Given the description of an element on the screen output the (x, y) to click on. 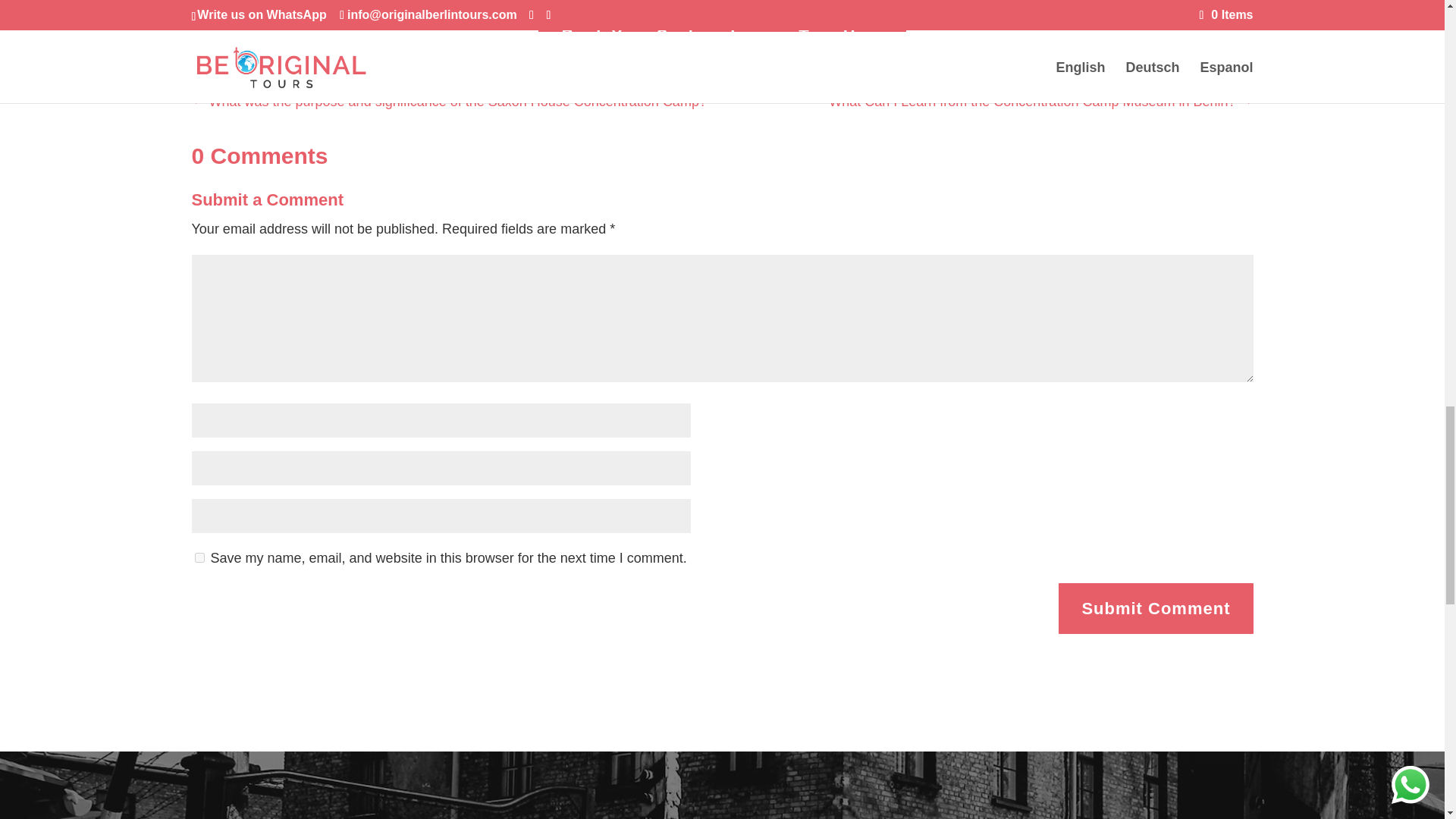
yes (198, 557)
Book Your Sachsenhausen Tour Here (721, 35)
Submit Comment (1155, 608)
